Given the description of an element on the screen output the (x, y) to click on. 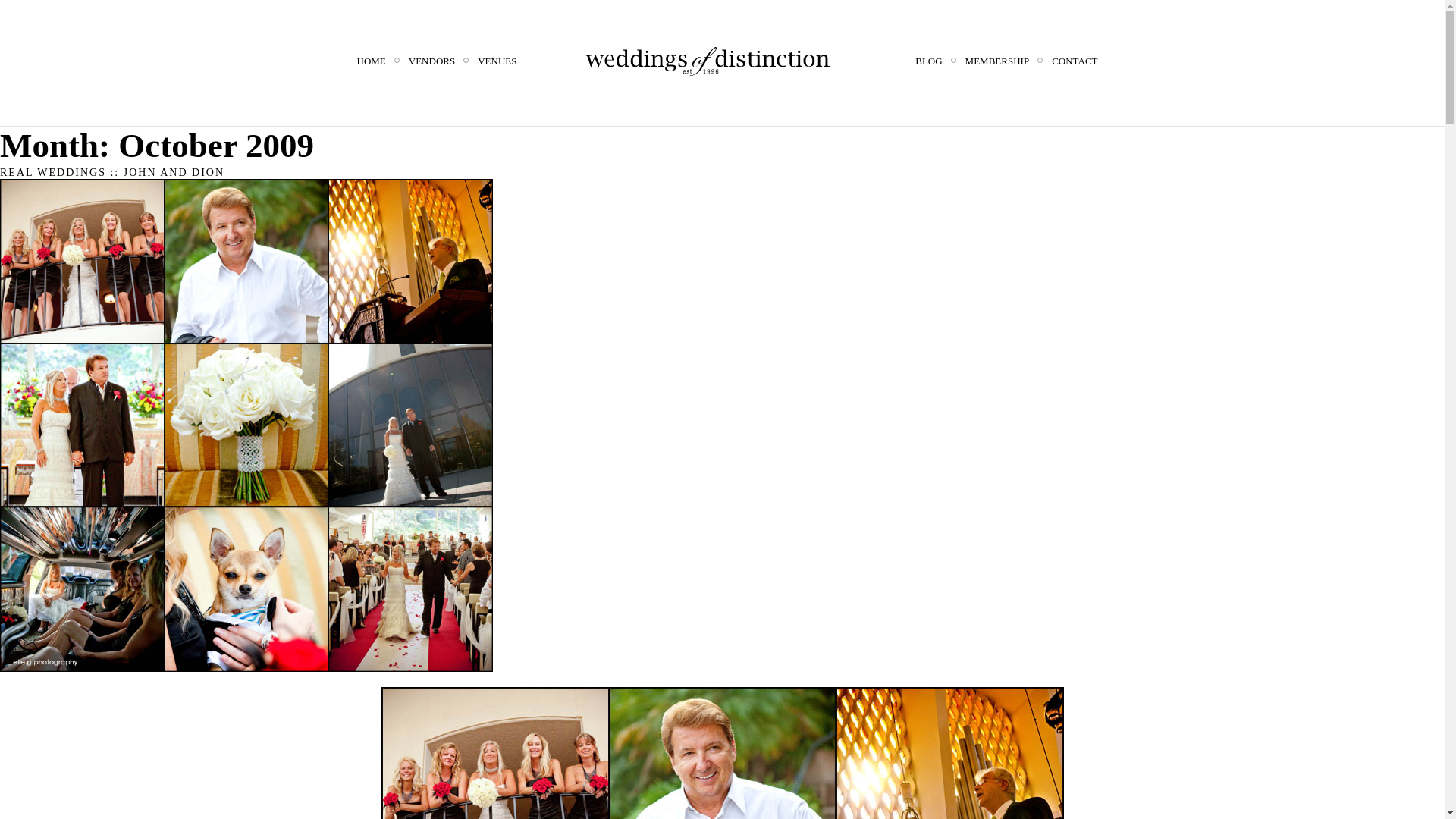
VENUES (496, 61)
Home (370, 61)
HOME (370, 61)
BLOG (928, 61)
REAL WEDDINGS :: JOHN AND DION (112, 172)
VENDORS (431, 61)
CONTACT (1074, 61)
MEMBERSHIP (997, 61)
Vendors (431, 61)
San Diego Weddings Of Distinction (707, 61)
San Diego Weddings Of Distinction (707, 61)
